Given the description of an element on the screen output the (x, y) to click on. 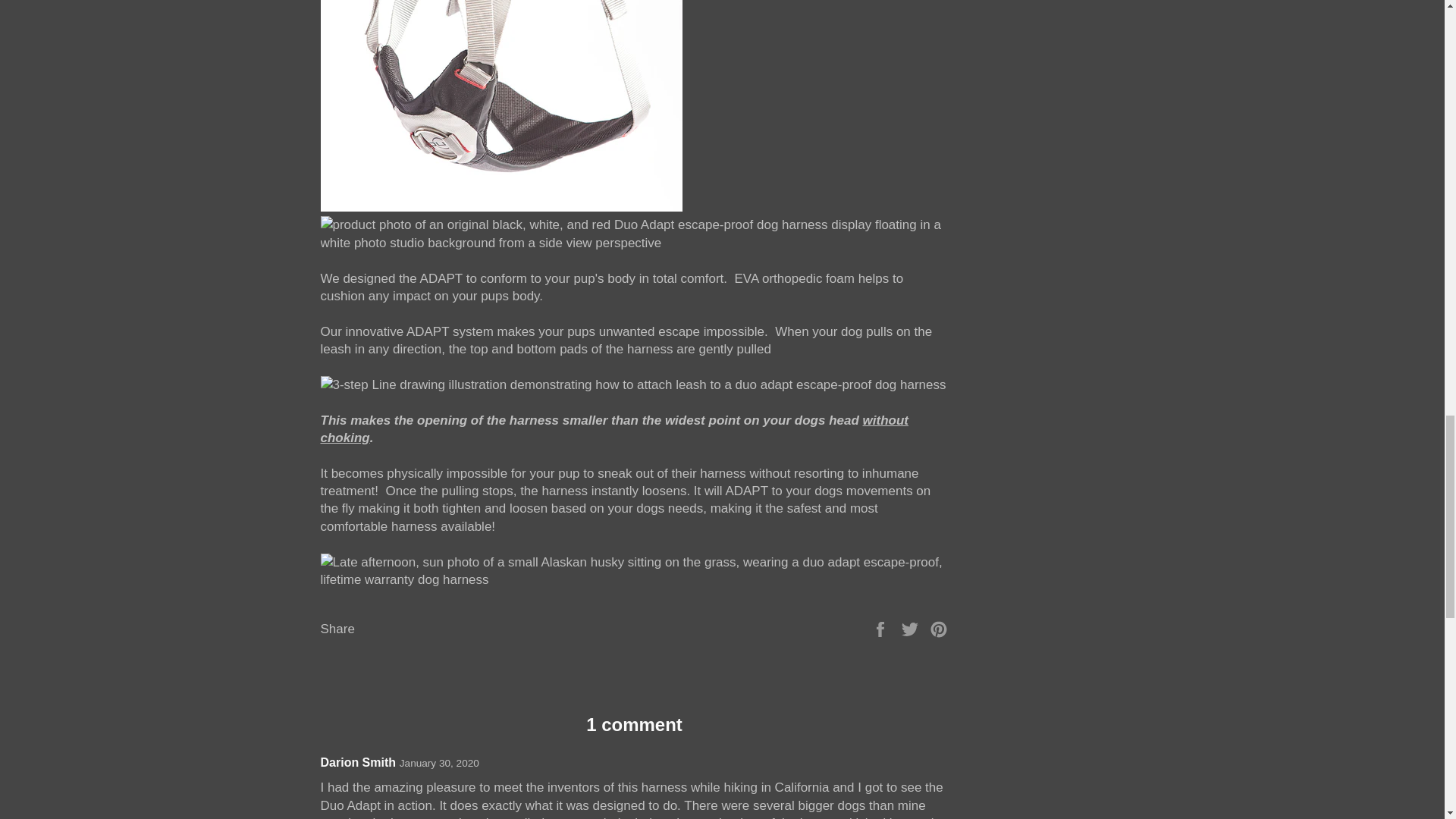
Tweet on Twitter (912, 627)
Pin on Pinterest (938, 627)
Pin on Pinterest (938, 627)
Share on Facebook (881, 627)
Share on Facebook (881, 627)
Tweet on Twitter (912, 627)
